Given the description of an element on the screen output the (x, y) to click on. 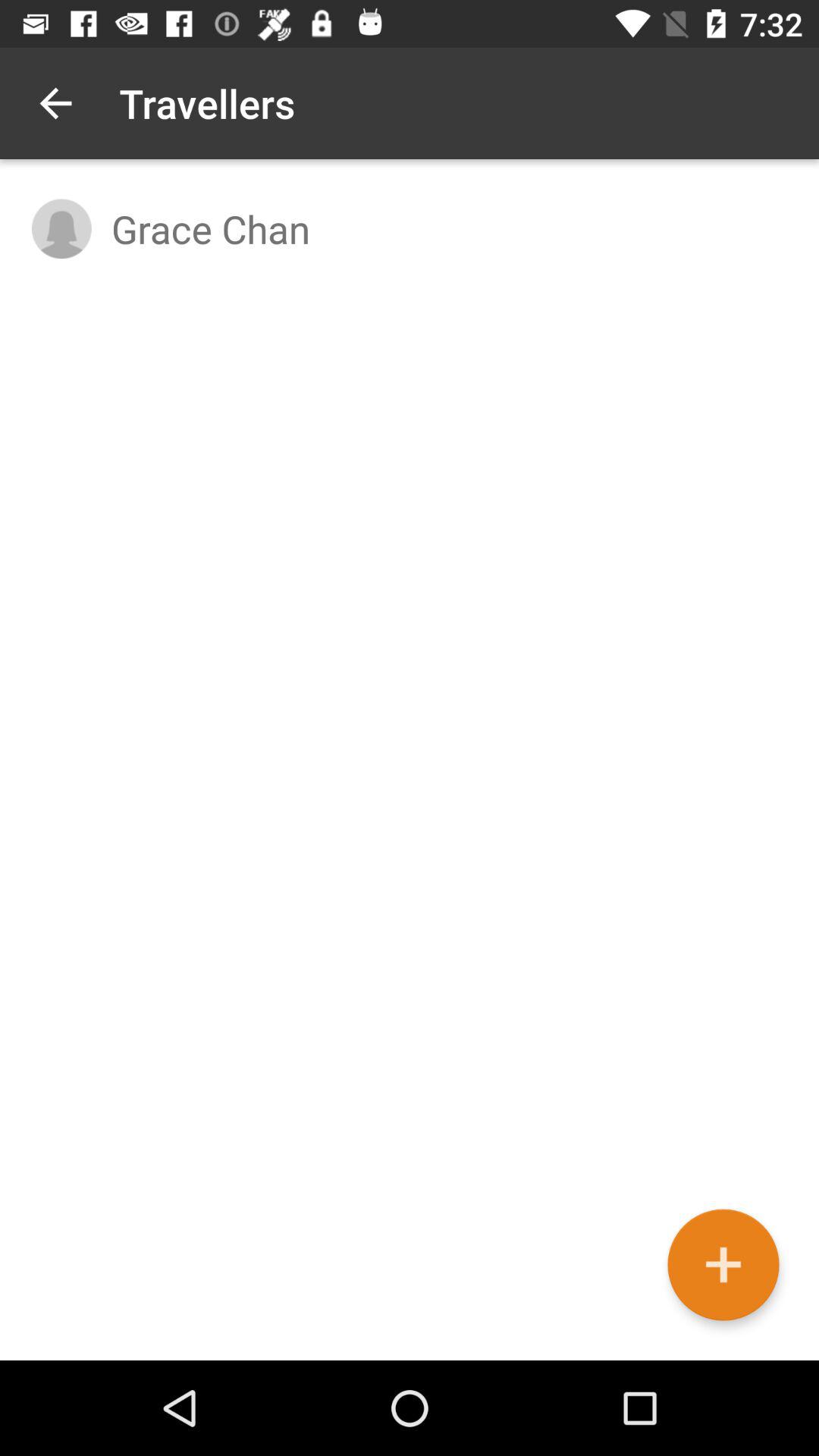
turn off item to the left of grace chan (61, 228)
